Given the description of an element on the screen output the (x, y) to click on. 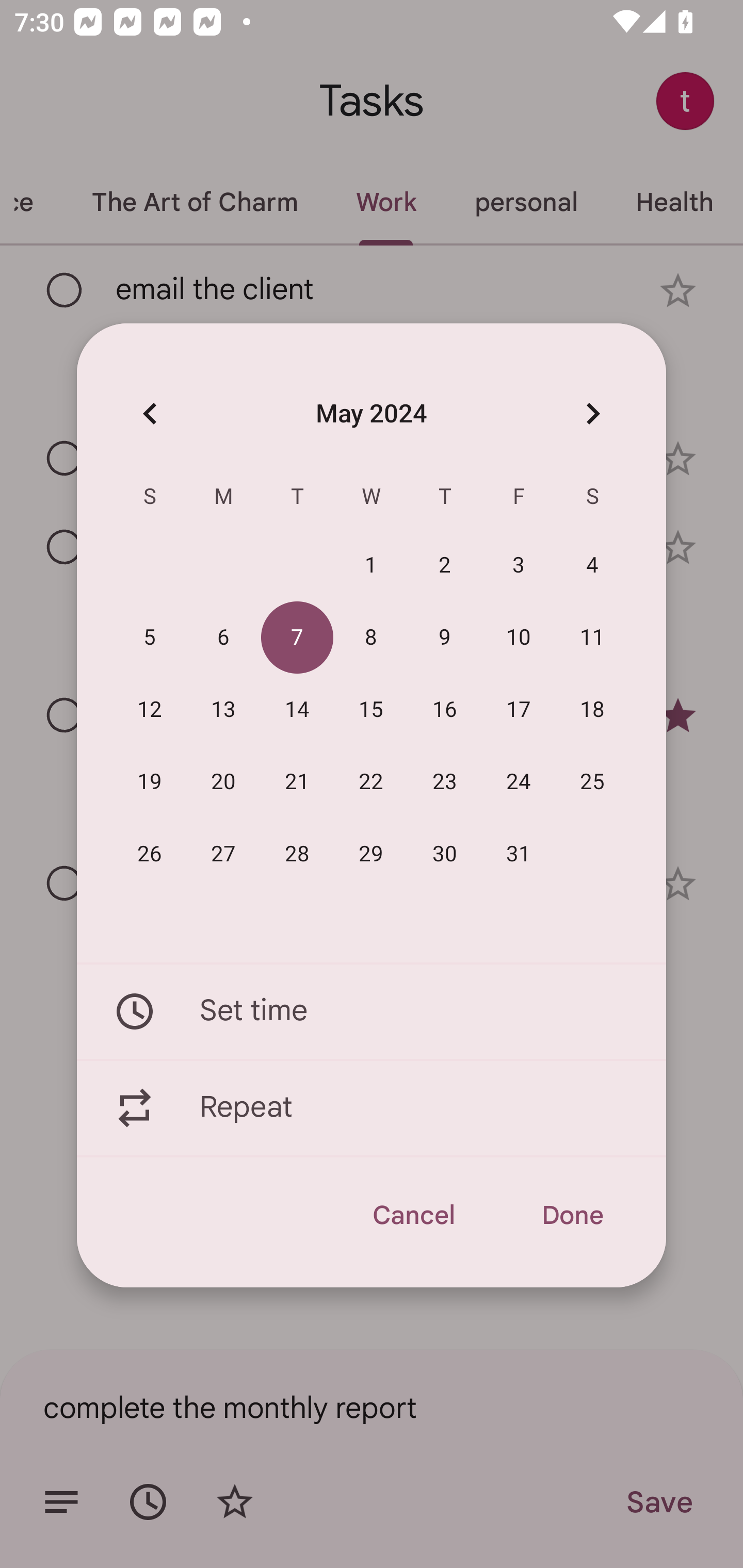
Previous month (149, 413)
Next month (592, 413)
1 01 May 2024 (370, 565)
2 02 May 2024 (444, 565)
3 03 May 2024 (518, 565)
4 04 May 2024 (592, 565)
5 05 May 2024 (149, 638)
6 06 May 2024 (223, 638)
7 07 May 2024 (297, 638)
8 08 May 2024 (370, 638)
9 09 May 2024 (444, 638)
10 10 May 2024 (518, 638)
11 11 May 2024 (592, 638)
12 12 May 2024 (149, 710)
13 13 May 2024 (223, 710)
14 14 May 2024 (297, 710)
15 15 May 2024 (370, 710)
16 16 May 2024 (444, 710)
17 17 May 2024 (518, 710)
18 18 May 2024 (592, 710)
19 19 May 2024 (149, 782)
20 20 May 2024 (223, 782)
21 21 May 2024 (297, 782)
22 22 May 2024 (370, 782)
23 23 May 2024 (444, 782)
24 24 May 2024 (518, 782)
25 25 May 2024 (592, 782)
26 26 May 2024 (149, 854)
27 27 May 2024 (223, 854)
28 28 May 2024 (297, 854)
29 29 May 2024 (370, 854)
30 30 May 2024 (444, 854)
31 31 May 2024 (518, 854)
Set time (371, 1011)
Repeat (371, 1108)
Cancel (412, 1215)
Done (571, 1215)
